Given the description of an element on the screen output the (x, y) to click on. 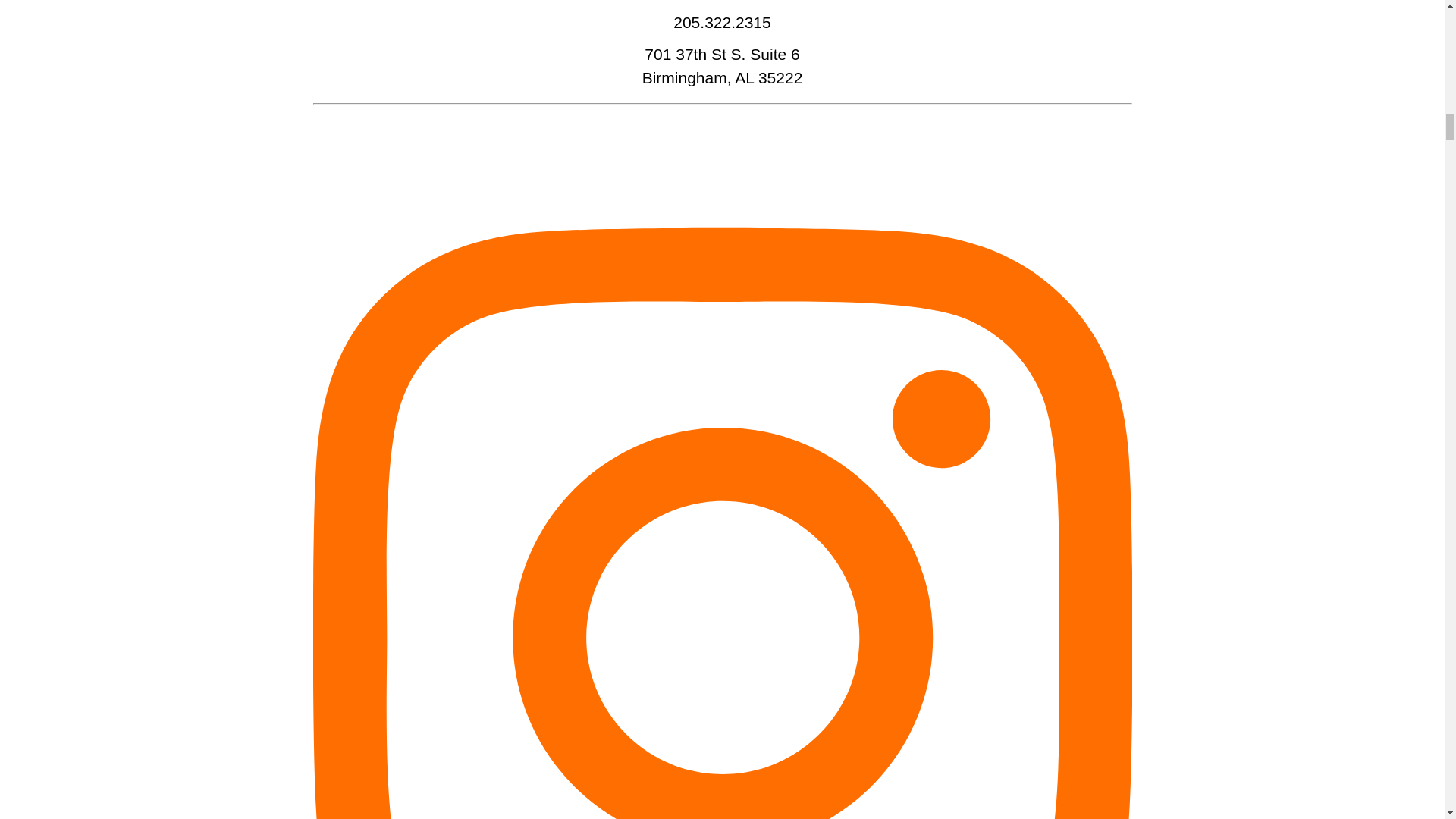
205.322.2315 (721, 22)
701 37th St S. Suite 6 (722, 54)
